Given the description of an element on the screen output the (x, y) to click on. 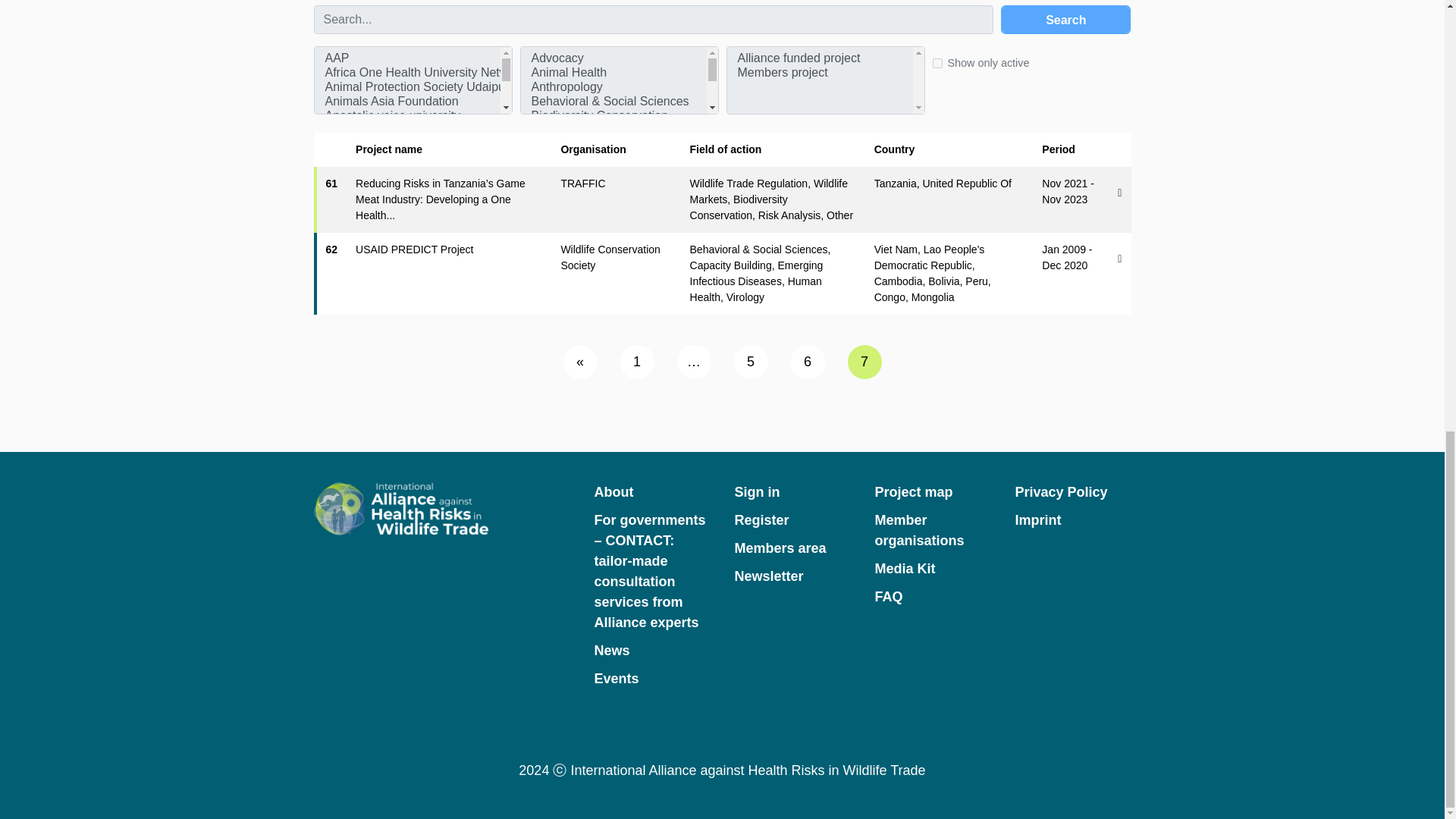
Members area (791, 548)
7 (864, 361)
Sign in (791, 492)
5 (750, 361)
true (937, 62)
Newsletter (791, 576)
6 (807, 361)
Search (1066, 18)
Search (1066, 18)
Imprint (1072, 520)
Member organisations (932, 530)
Events (652, 679)
Privacy Policy (1072, 492)
1 (636, 361)
FAQ (932, 597)
